Given the description of an element on the screen output the (x, y) to click on. 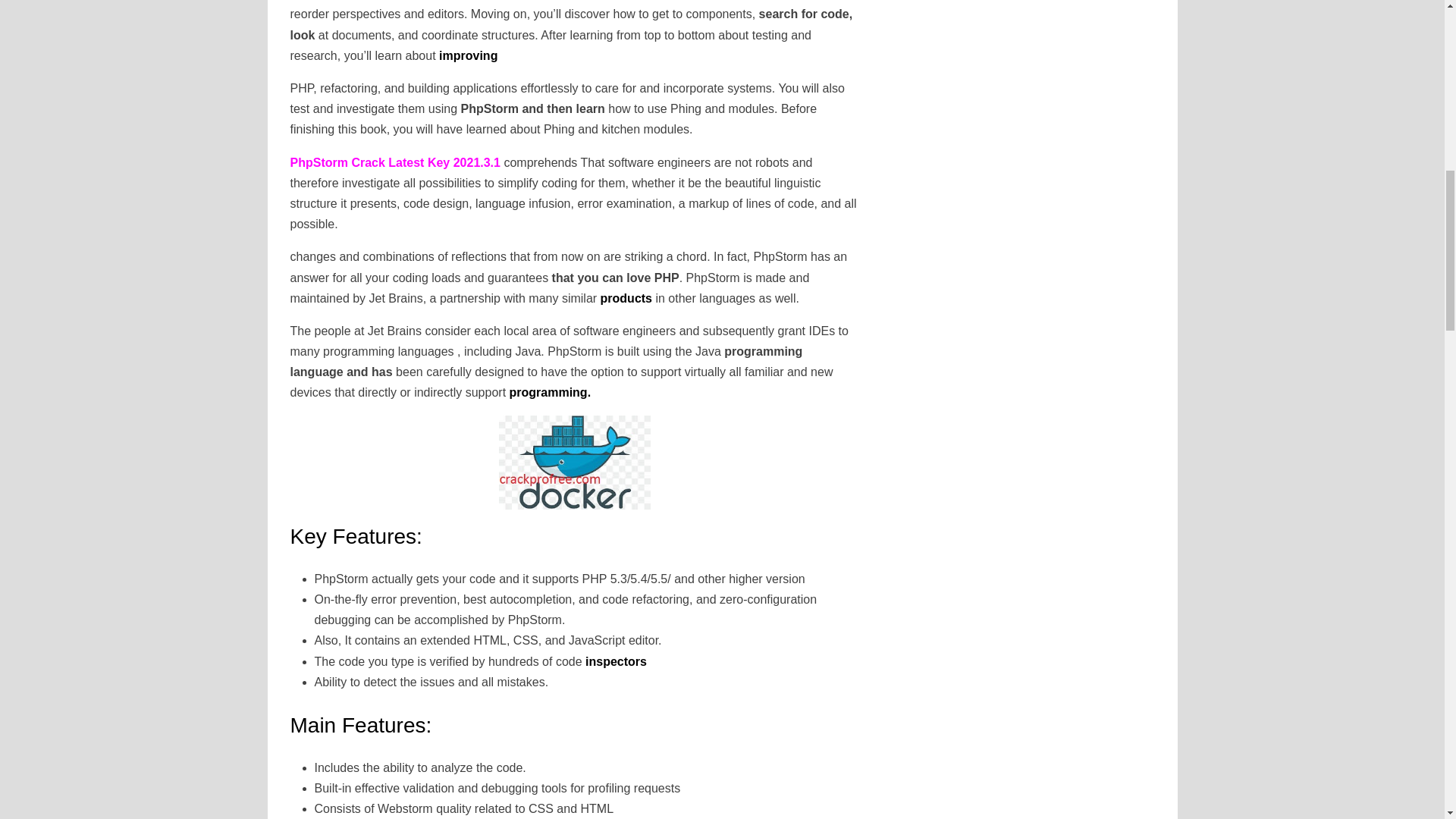
inspectors (614, 661)
improving (468, 55)
products (625, 297)
programming. (550, 391)
